Given the description of an element on the screen output the (x, y) to click on. 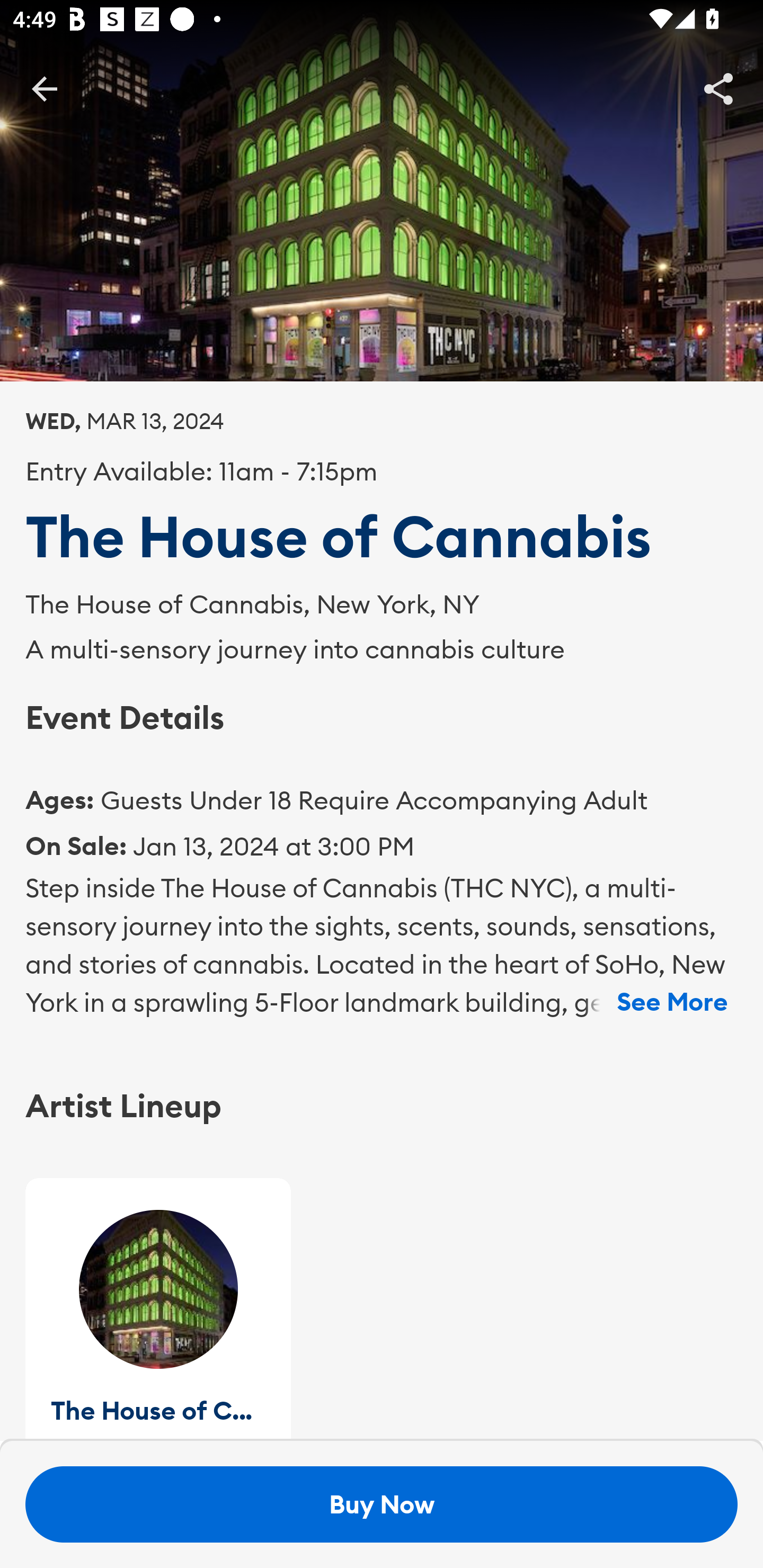
BackButton (44, 88)
Share (718, 88)
See More (671, 1002)
The House of Cannabis (157, 1308)
Buy Now (381, 1504)
